Given the description of an element on the screen output the (x, y) to click on. 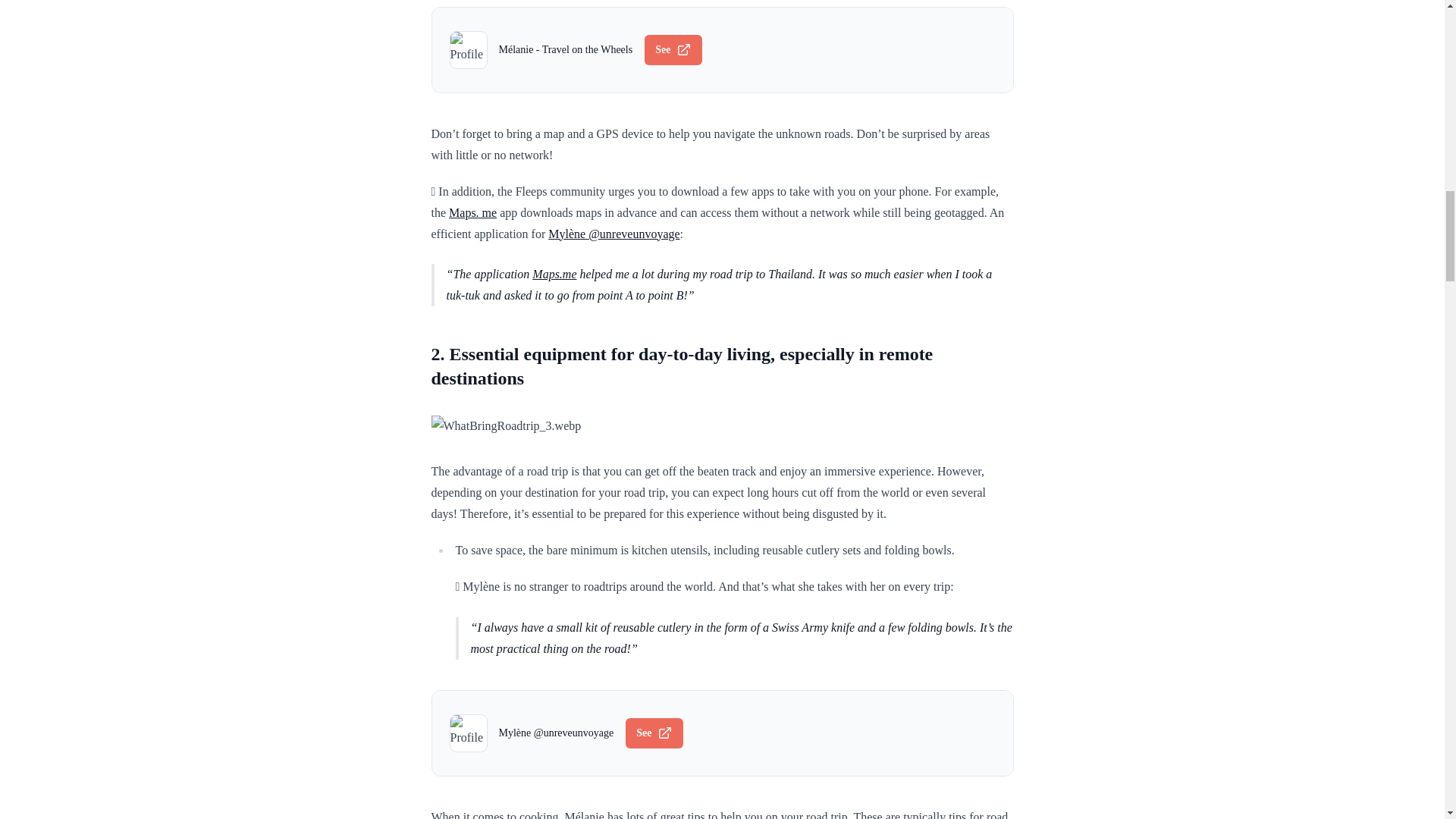
See (654, 733)
Maps.me (554, 273)
Maps. me (472, 212)
See (673, 50)
